Given the description of an element on the screen output the (x, y) to click on. 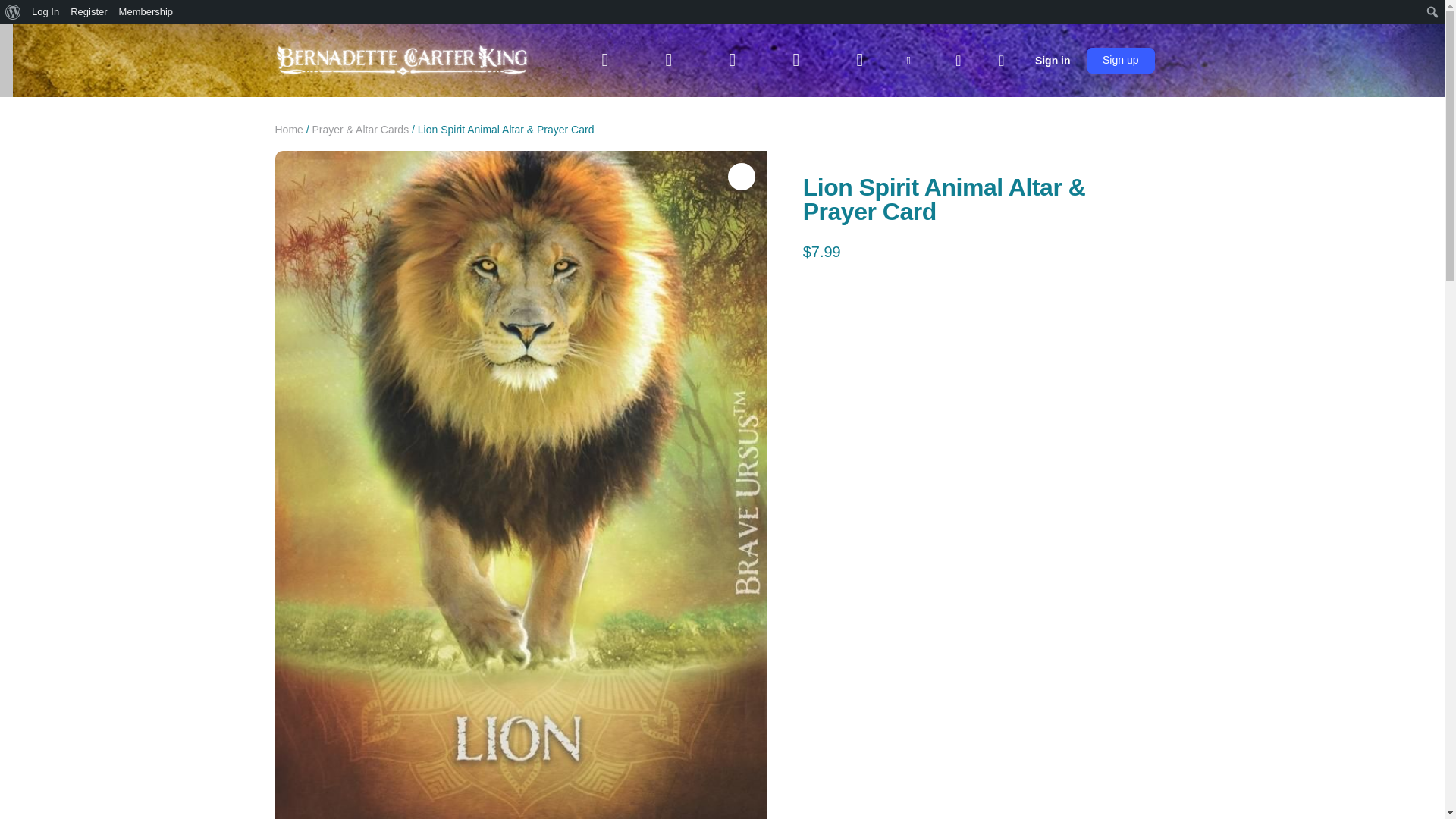
Sign in (1053, 60)
Sign up (1120, 60)
Search (16, 12)
Log In (45, 12)
Register (89, 12)
Membership (146, 12)
